Given the description of an element on the screen output the (x, y) to click on. 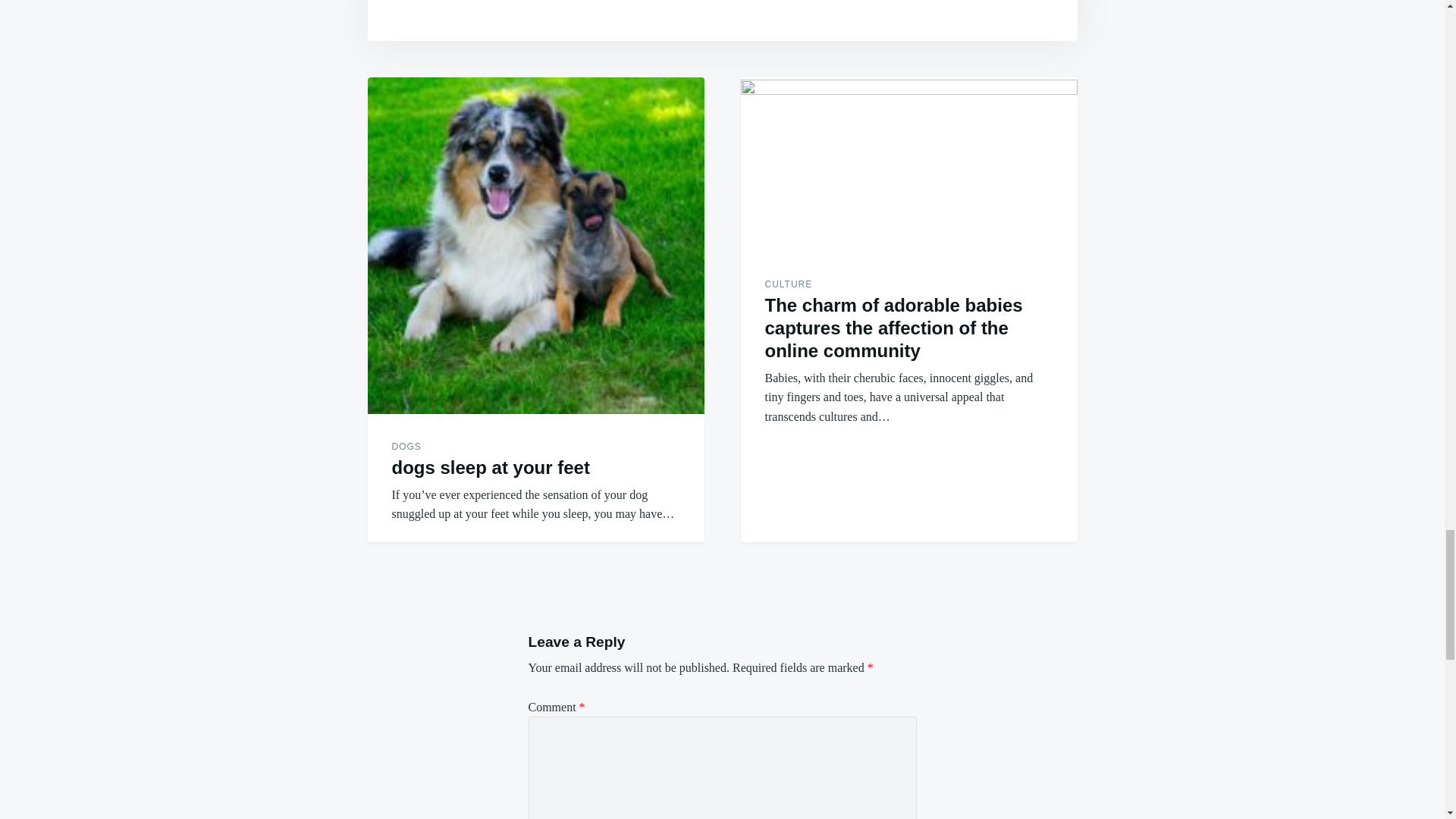
dogs sleep at your feet (534, 245)
CULTURE (788, 284)
DOGS (405, 446)
dogs sleep at your feet (490, 467)
